Given the description of an element on the screen output the (x, y) to click on. 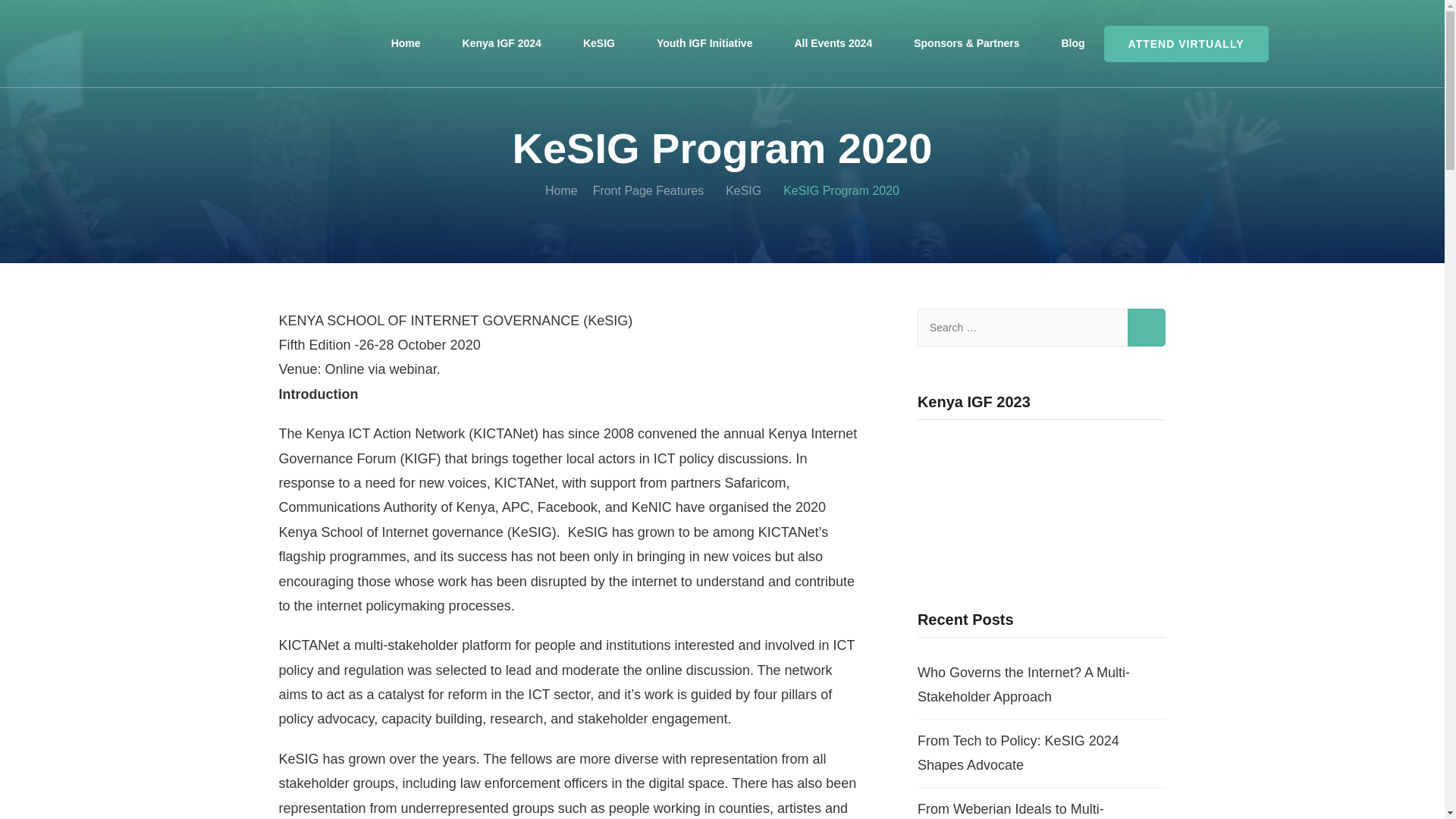
Search (1146, 327)
Kenya Internet Governance Forum 2023 (1041, 499)
Search (1146, 327)
